Given the description of an element on the screen output the (x, y) to click on. 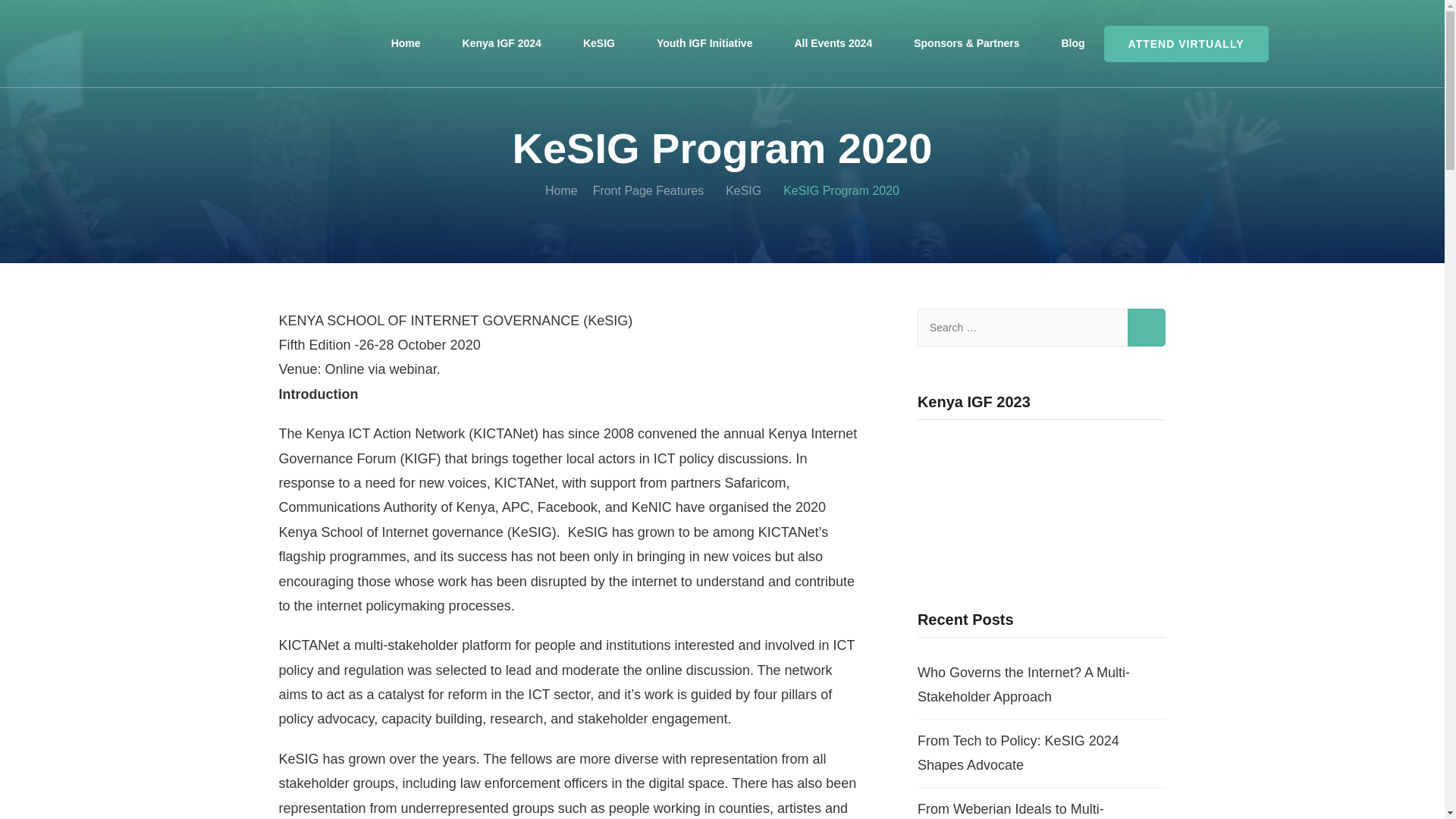
Search (1146, 327)
Kenya Internet Governance Forum 2023 (1041, 499)
Search (1146, 327)
